Given the description of an element on the screen output the (x, y) to click on. 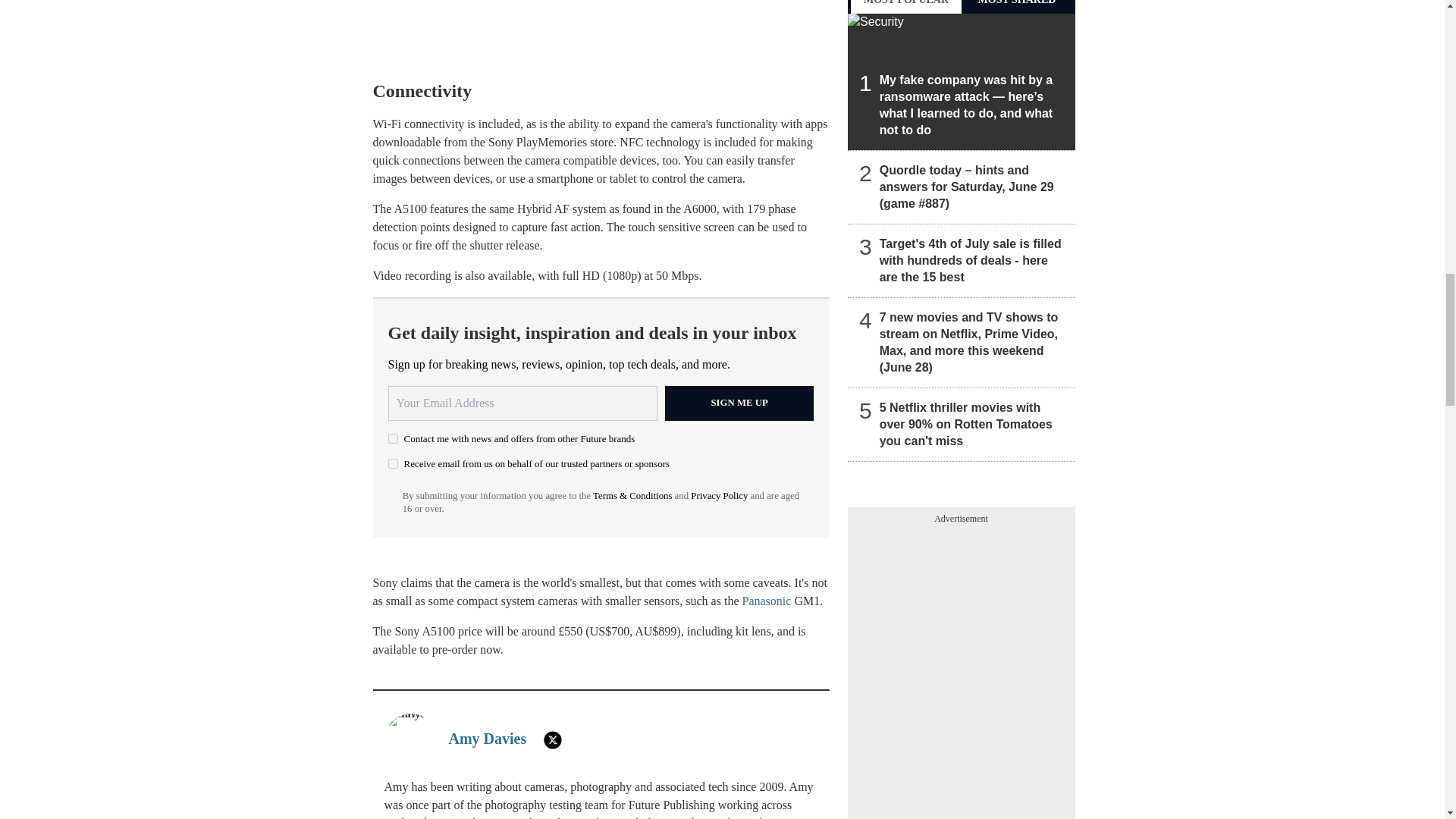
on (392, 463)
Sign me up (739, 402)
on (392, 438)
